Given the description of an element on the screen output the (x, y) to click on. 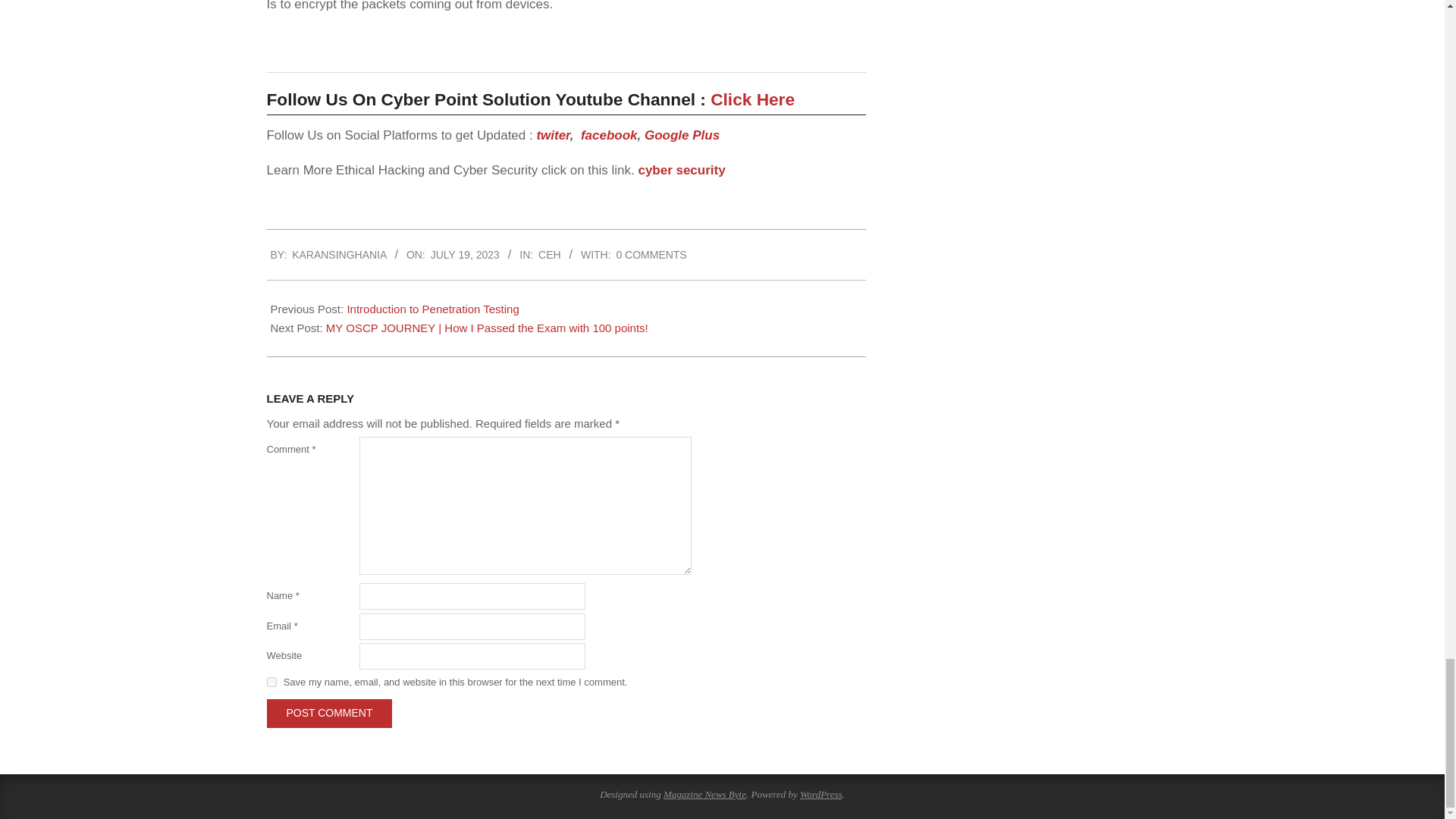
facebook (608, 134)
Introduction to Penetration Testing (432, 308)
0 COMMENTS (650, 254)
Post Comment (329, 713)
KARANSINGHANIA (338, 254)
 Click Here (750, 98)
Post Comment (329, 713)
CEH (549, 254)
yes (271, 682)
Magazine News Byte WordPress Theme (704, 794)
